Given the description of an element on the screen output the (x, y) to click on. 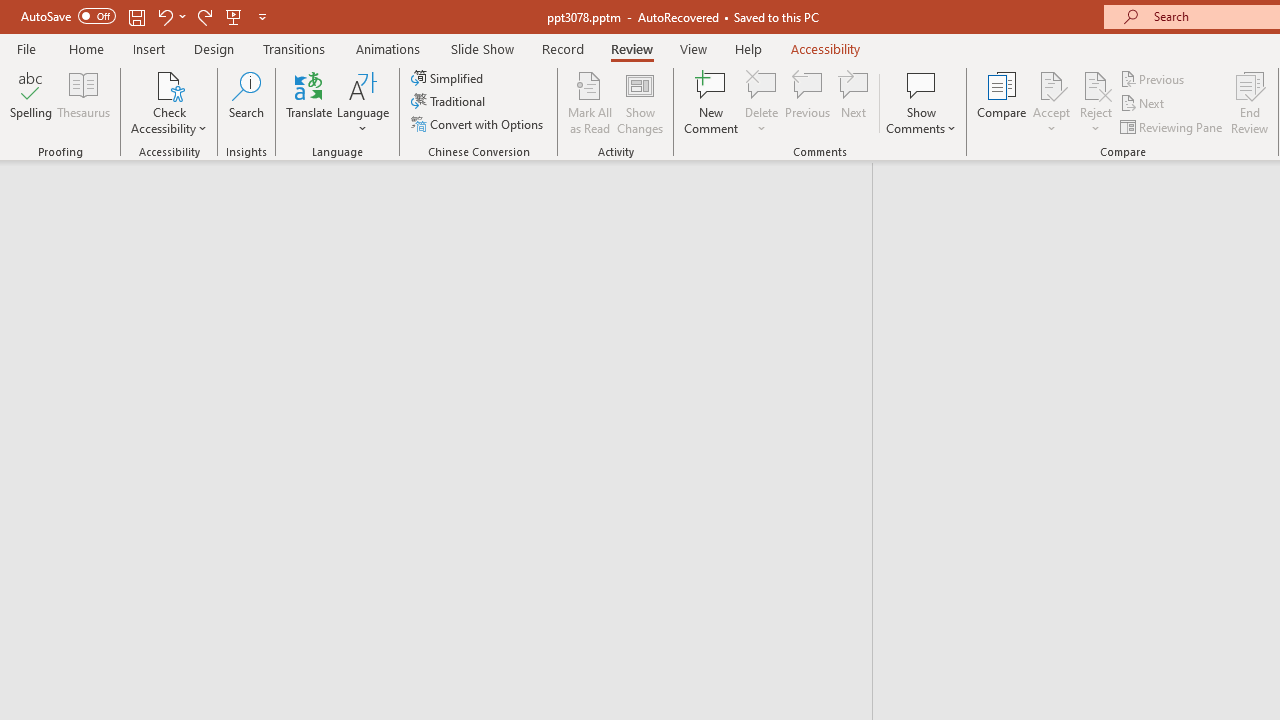
Reject (1096, 102)
Mark All as Read (589, 102)
Delete (762, 102)
